Given the description of an element on the screen output the (x, y) to click on. 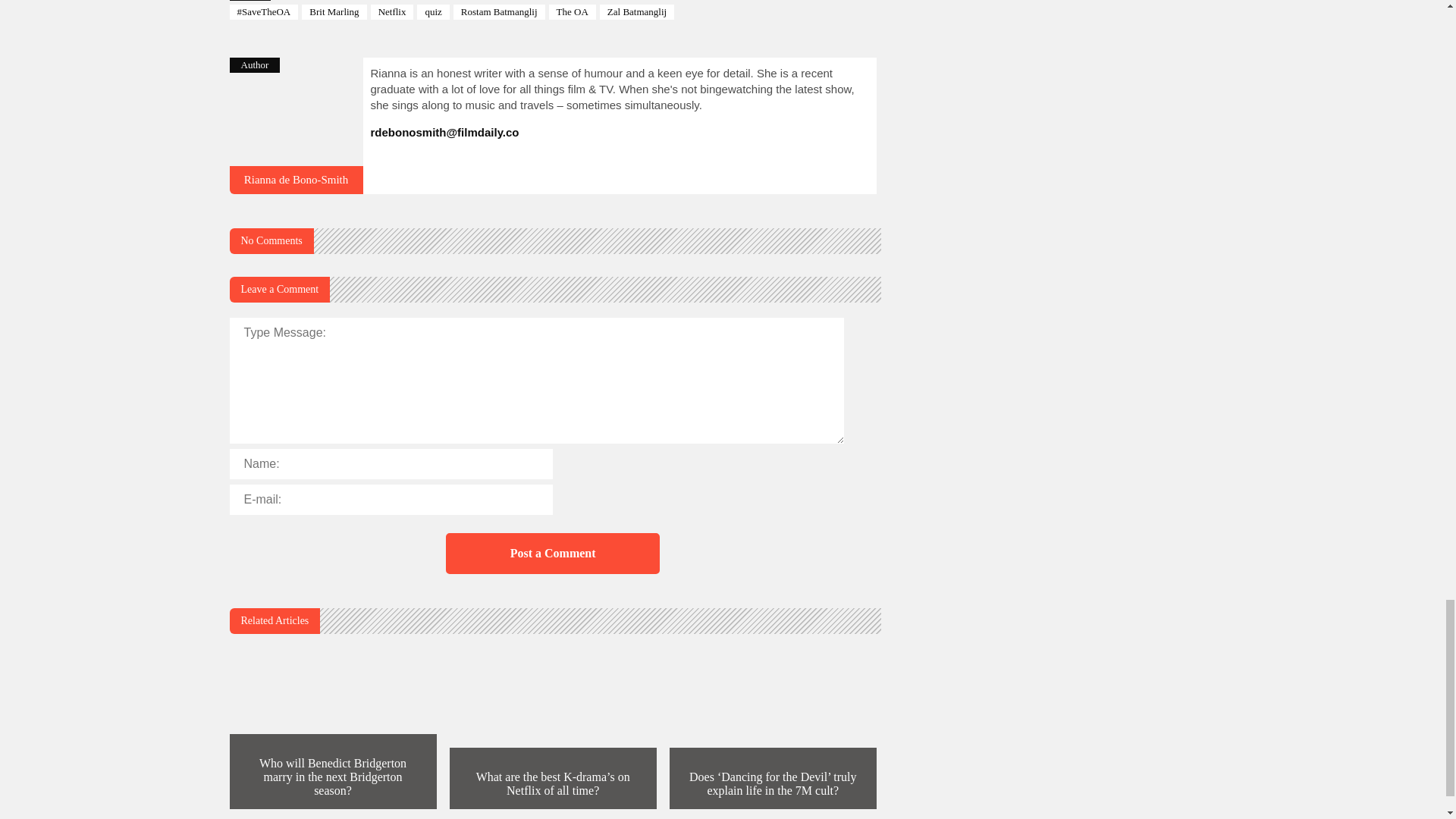
Post a Comment (552, 553)
